Given the description of an element on the screen output the (x, y) to click on. 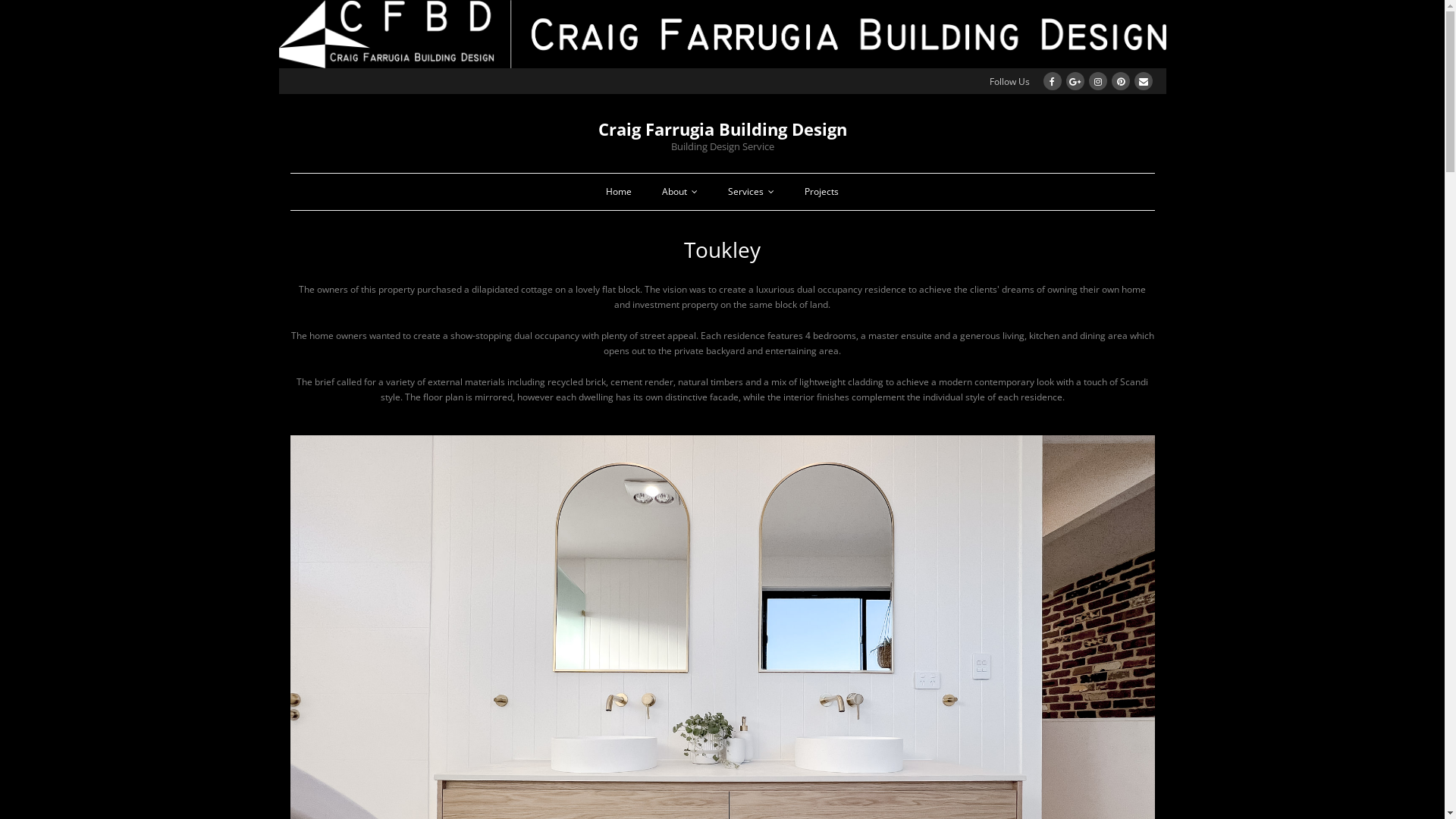
Projects Element type: text (821, 191)
About Element type: text (679, 191)
Craig Farrugia Building Design
Building Design Service Element type: text (721, 131)
Home Element type: text (618, 191)
Services Element type: text (750, 191)
